Given the description of an element on the screen output the (x, y) to click on. 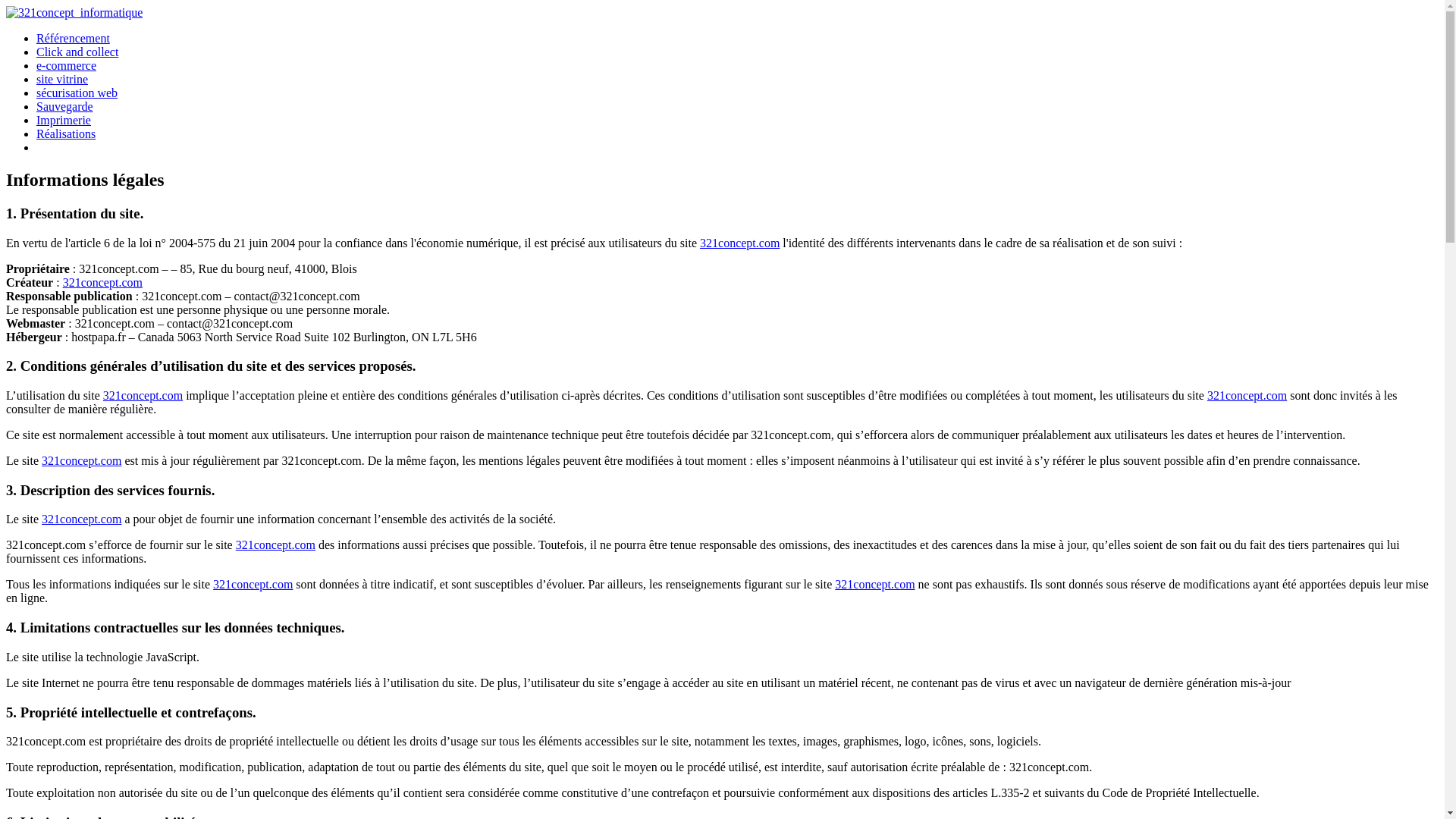
Imprimerie Element type: text (63, 119)
site vitrine Element type: text (61, 78)
321concept.com Element type: text (102, 282)
e-commerce Element type: text (66, 65)
321concept.com Element type: text (739, 242)
Click and collect Element type: text (77, 51)
321concept.com Element type: text (81, 460)
Sauvegarde Element type: text (64, 106)
321concept.com Element type: text (1246, 395)
321concept.com Element type: text (874, 583)
321concept.com Element type: text (142, 395)
321concept.com Element type: text (252, 583)
321concept.com Element type: text (81, 518)
321concept.com Element type: text (275, 544)
